Given the description of an element on the screen output the (x, y) to click on. 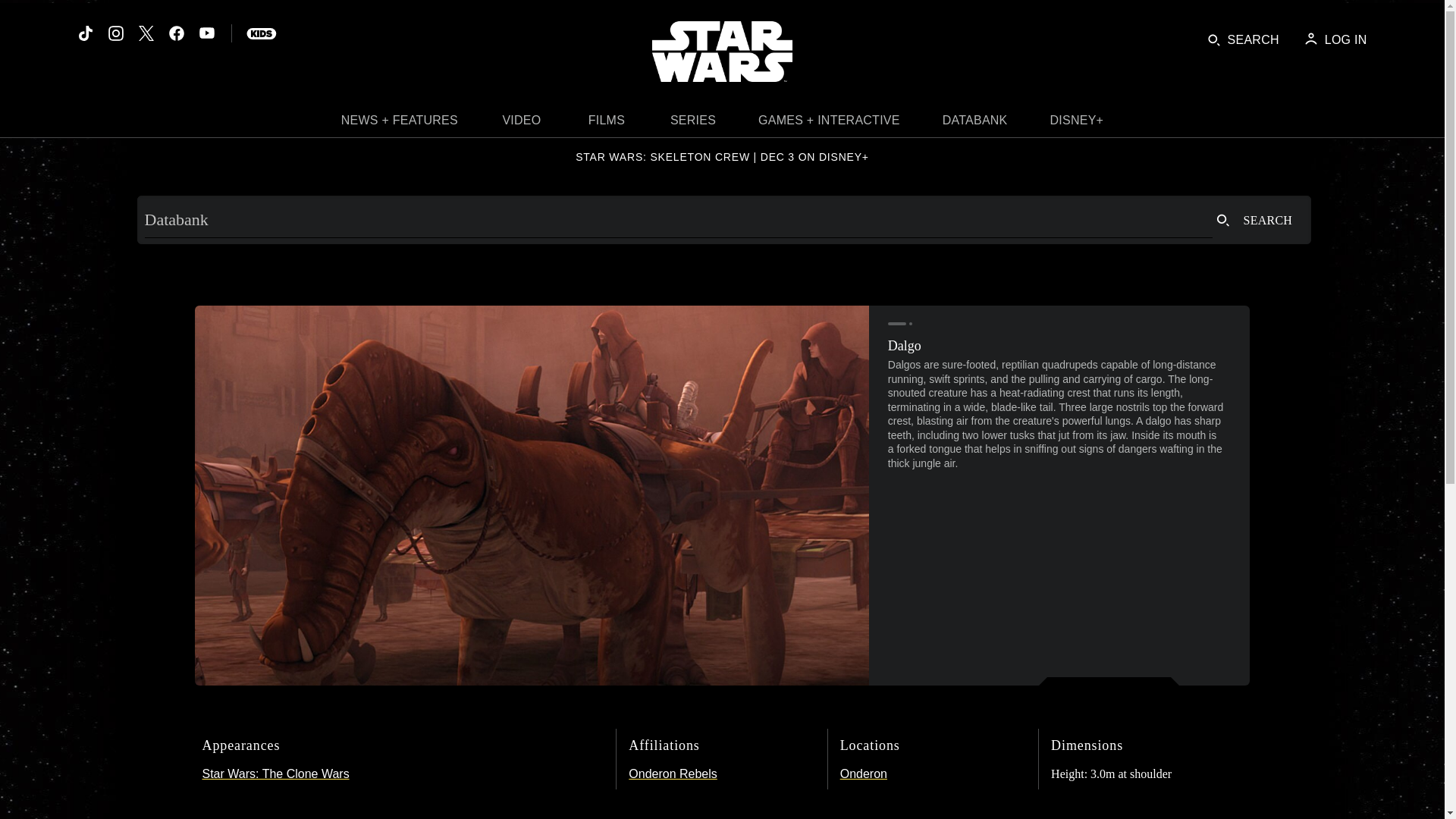
VIDEO (521, 123)
YouTube (206, 32)
Twitter (145, 32)
SERIES (692, 123)
LOG IN (1334, 40)
DATABANK (975, 123)
Instagram (114, 32)
Facebook (175, 32)
Search (1254, 220)
FILMS (606, 123)
